Given the description of an element on the screen output the (x, y) to click on. 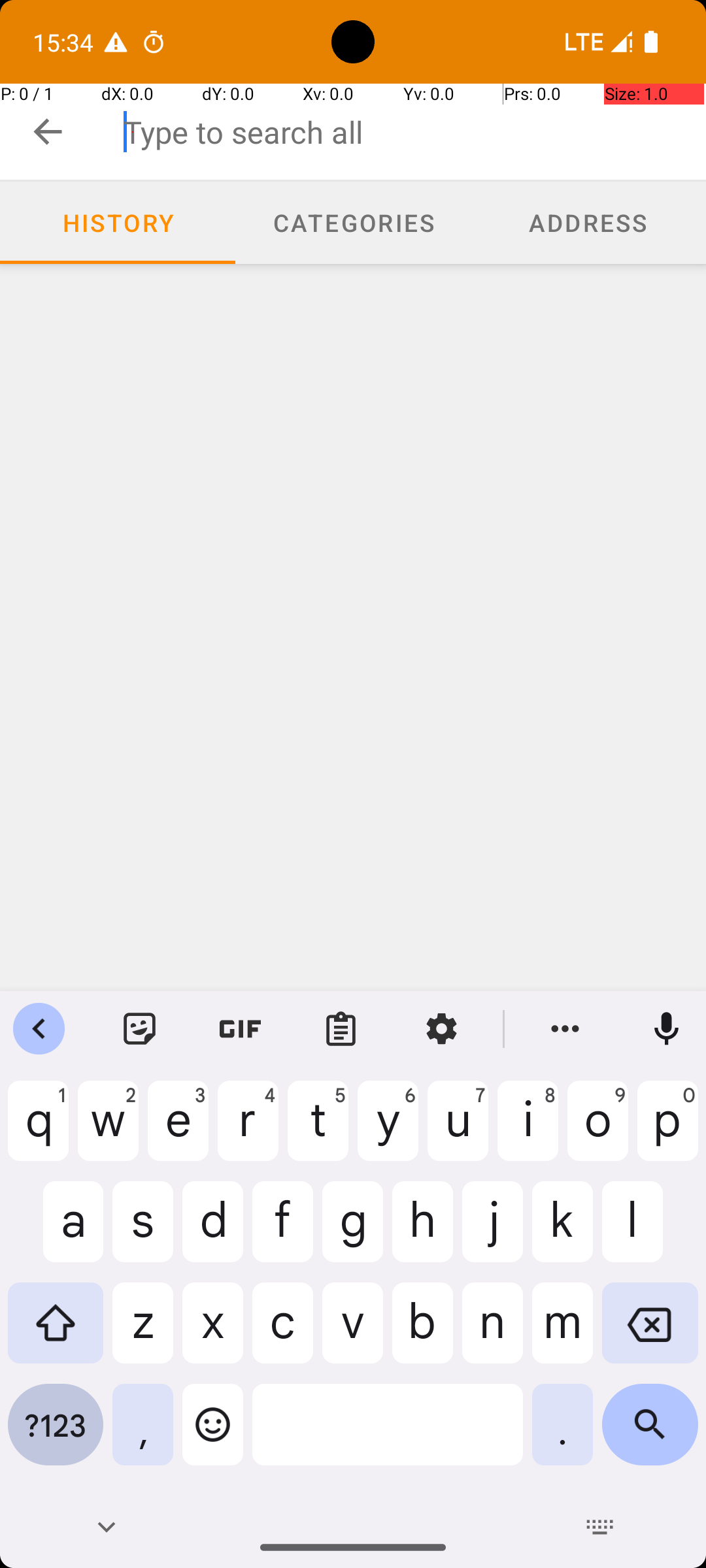
Type to search all Element type: android.widget.EditText (414, 131)
History Element type: android.widget.LinearLayout (117, 222)
Categories Element type: android.widget.LinearLayout (352, 222)
Address Element type: android.widget.LinearLayout (588, 222)
HISTORY Element type: android.widget.TextView (117, 222)
CATEGORIES Element type: android.widget.TextView (352, 222)
ADDRESS Element type: android.widget.TextView (587, 222)
